Given the description of an element on the screen output the (x, y) to click on. 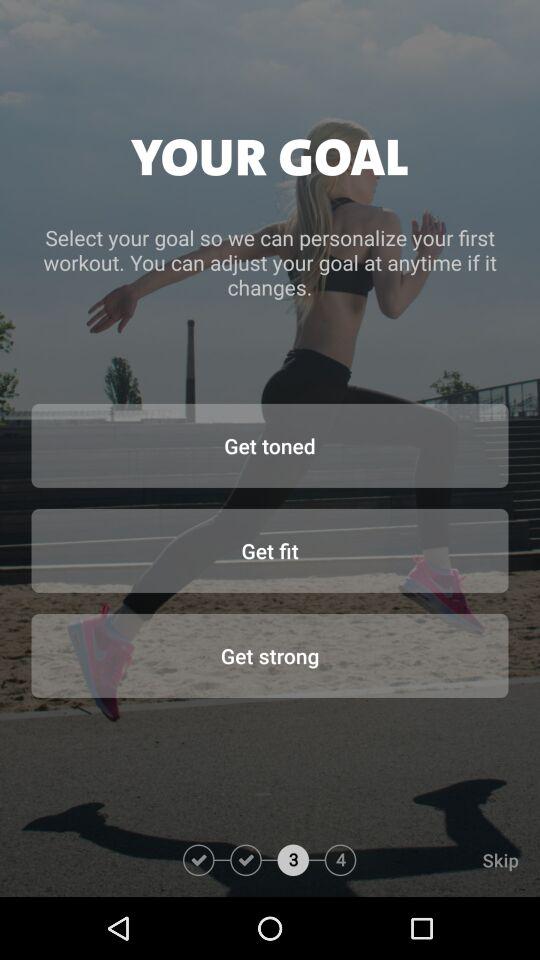
click the skip item (448, 859)
